Given the description of an element on the screen output the (x, y) to click on. 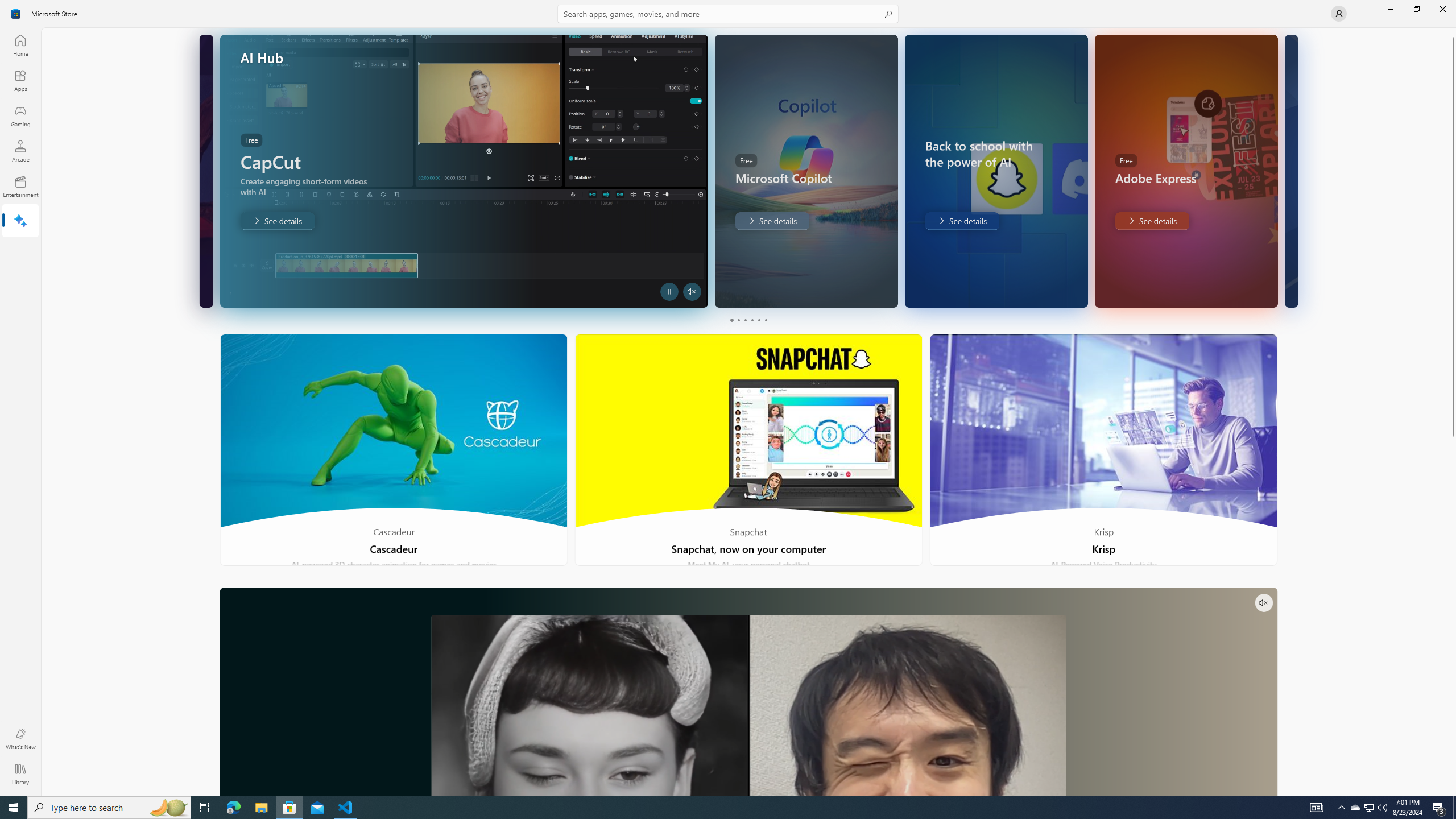
AutomationID: PosterImage (747, 705)
AutomationID: NavigationControl (728, 398)
Entertainment (20, 185)
Page 4 (751, 319)
User profile (1338, 13)
Search (727, 13)
Page 1 (731, 319)
Gaming (20, 115)
Snapchat, now on your computer (749, 449)
AI Hub (20, 221)
Arcade (20, 150)
Unmute (1263, 602)
Class: Image (15, 13)
